Given the description of an element on the screen output the (x, y) to click on. 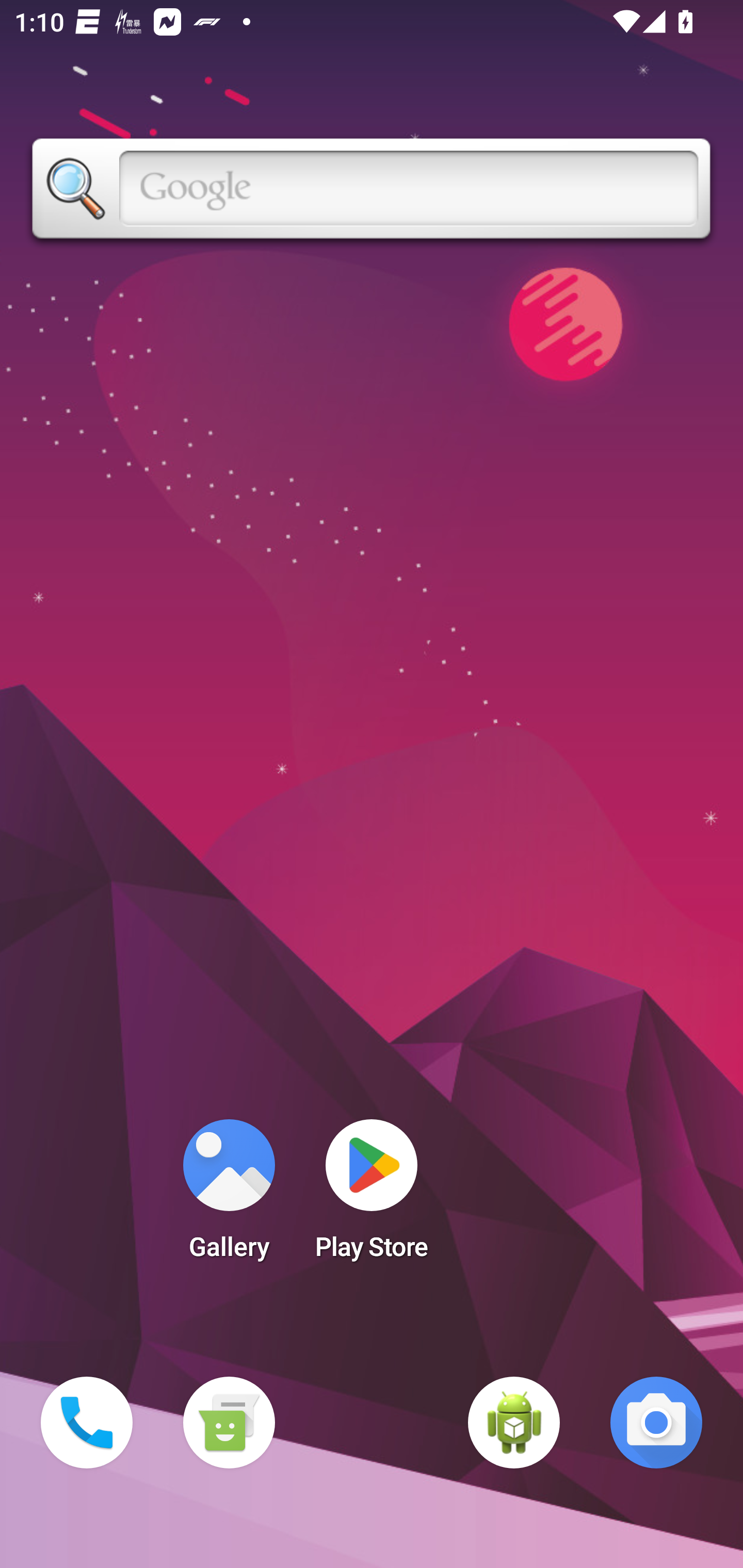
Gallery (228, 1195)
Play Store (371, 1195)
Phone (86, 1422)
Messaging (228, 1422)
WebView Browser Tester (513, 1422)
Camera (656, 1422)
